Given the description of an element on the screen output the (x, y) to click on. 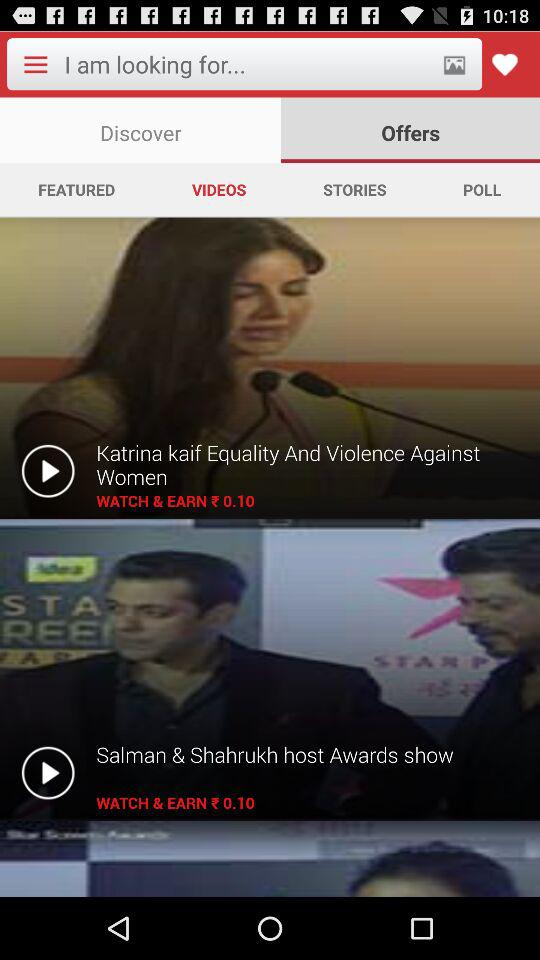
open search bar (246, 64)
